Given the description of an element on the screen output the (x, y) to click on. 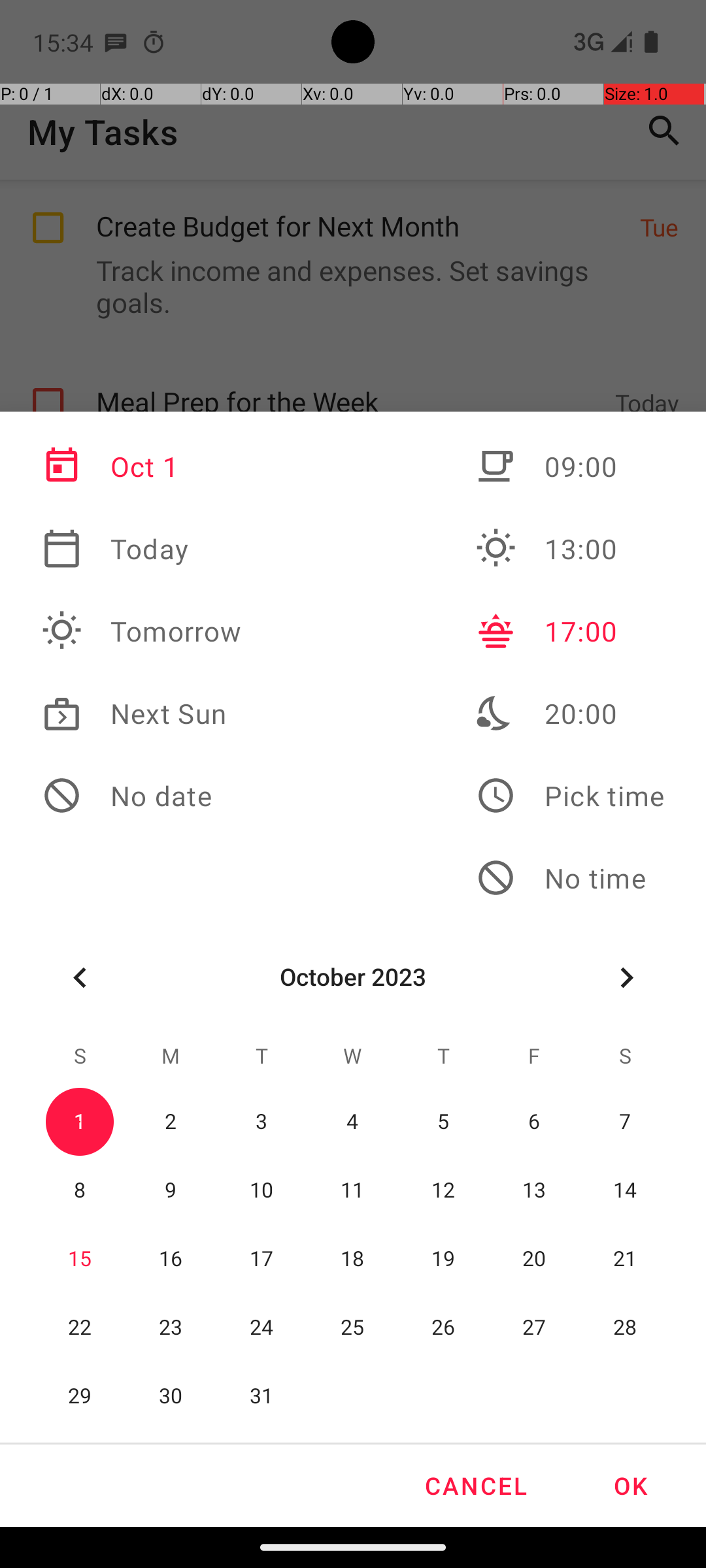
Oct 1 Element type: android.widget.CompoundButton (141, 466)
